Given the description of an element on the screen output the (x, y) to click on. 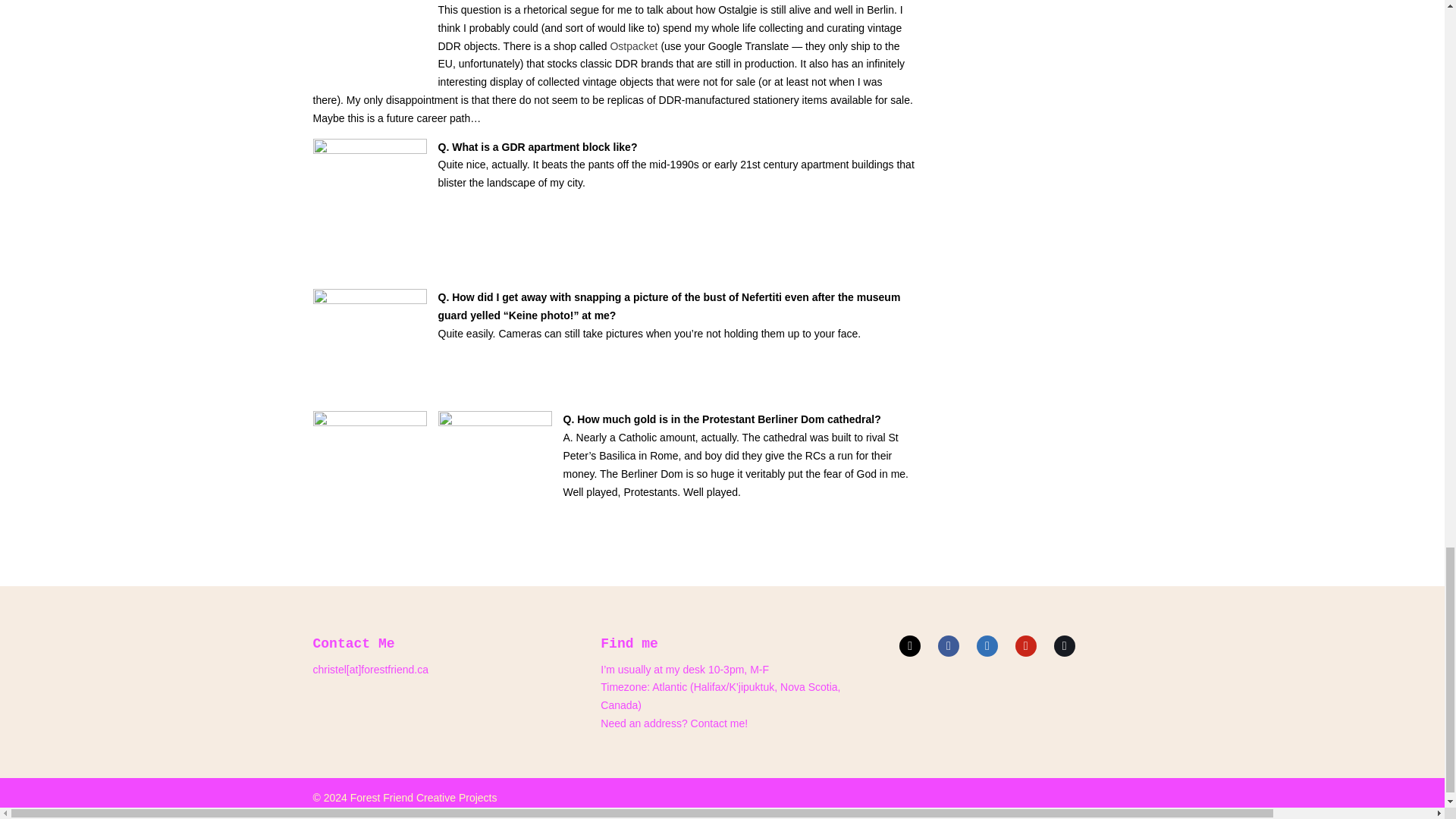
Ostpacket (634, 46)
nefertiti (369, 345)
ostalgie1 (369, 43)
